Given the description of an element on the screen output the (x, y) to click on. 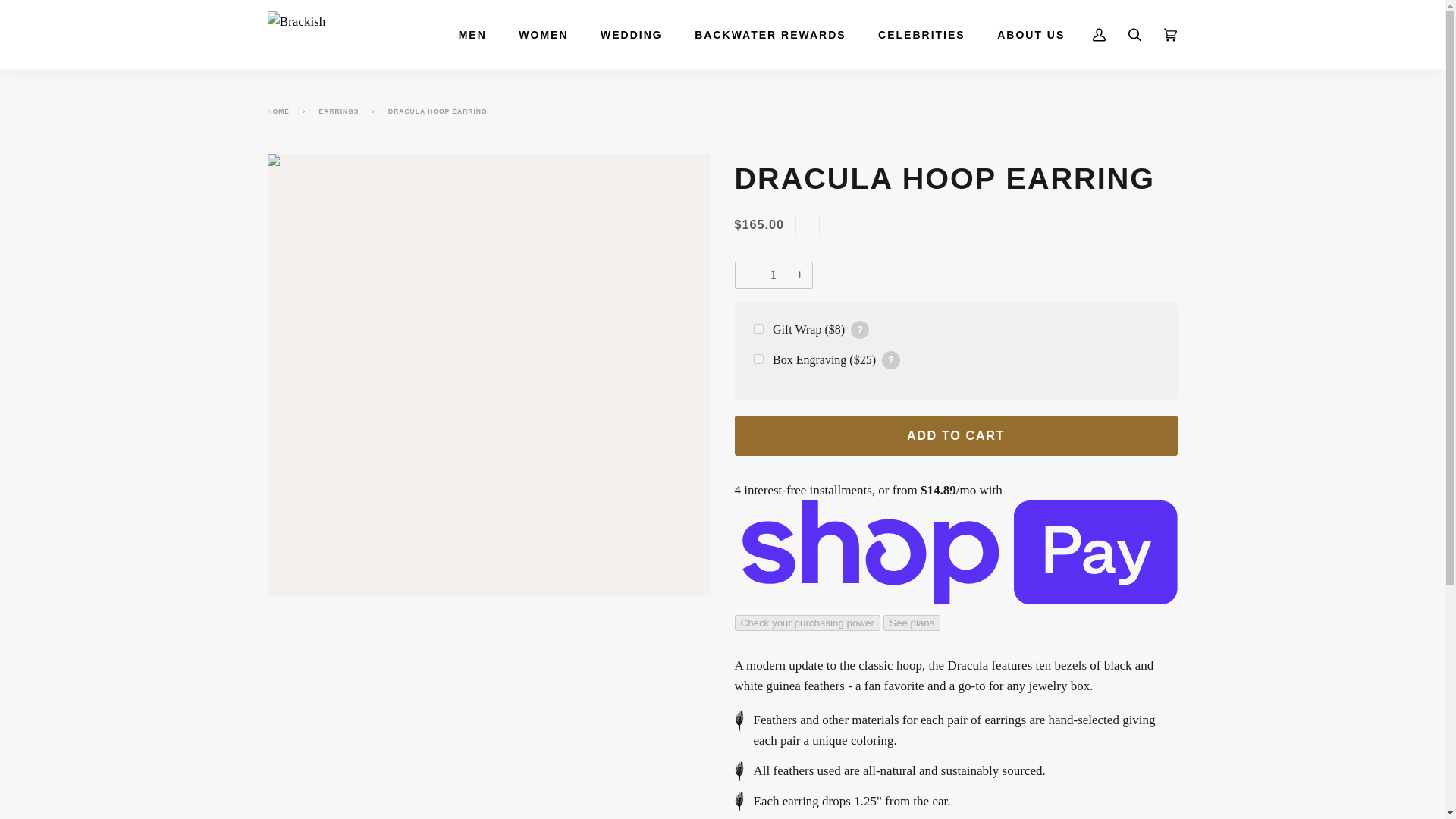
WOMEN (543, 34)
Back to the frontpage (280, 111)
on (758, 358)
1 (772, 275)
on (758, 328)
